Given the description of an element on the screen output the (x, y) to click on. 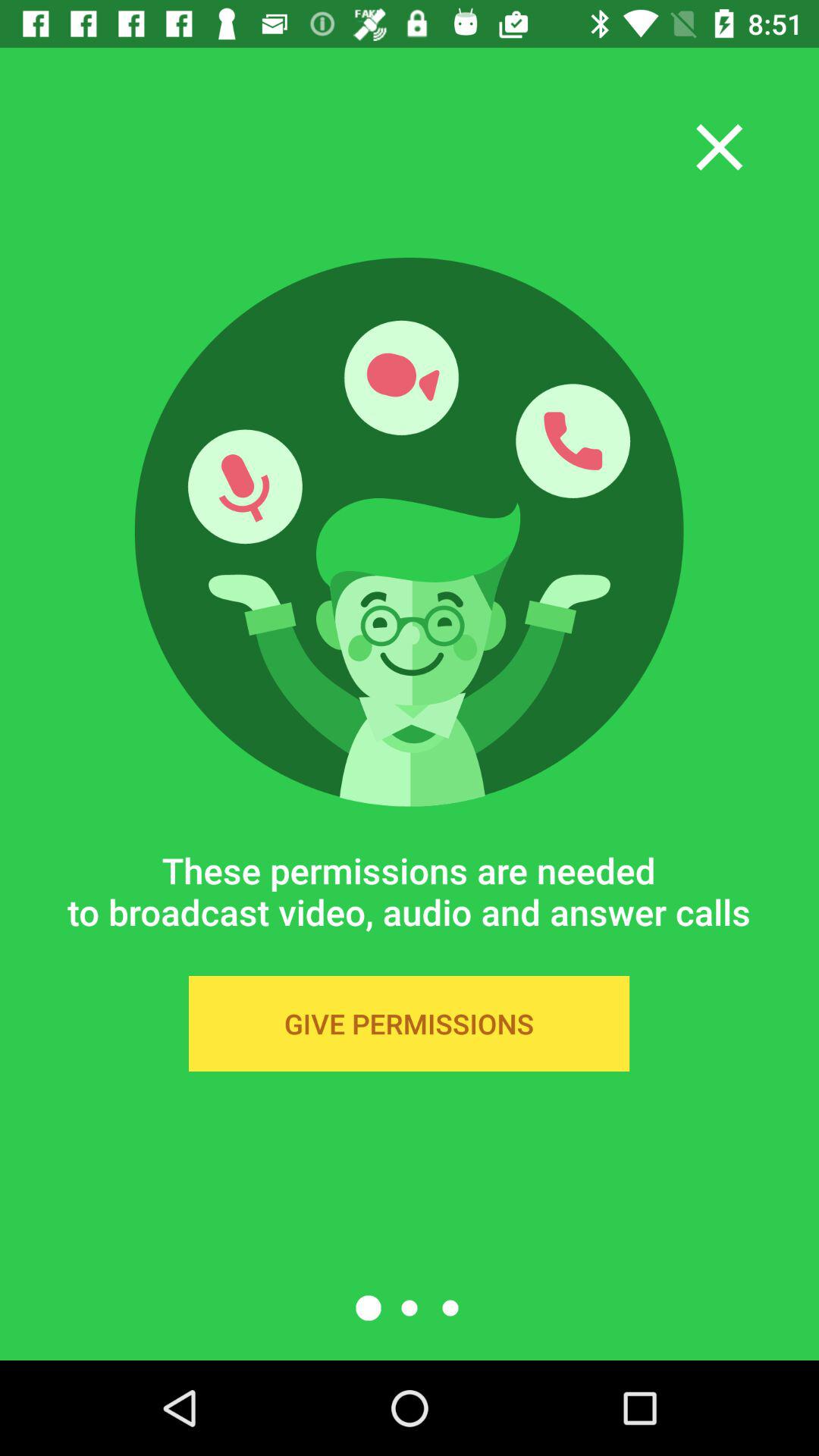
exit out (719, 147)
